Given the description of an element on the screen output the (x, y) to click on. 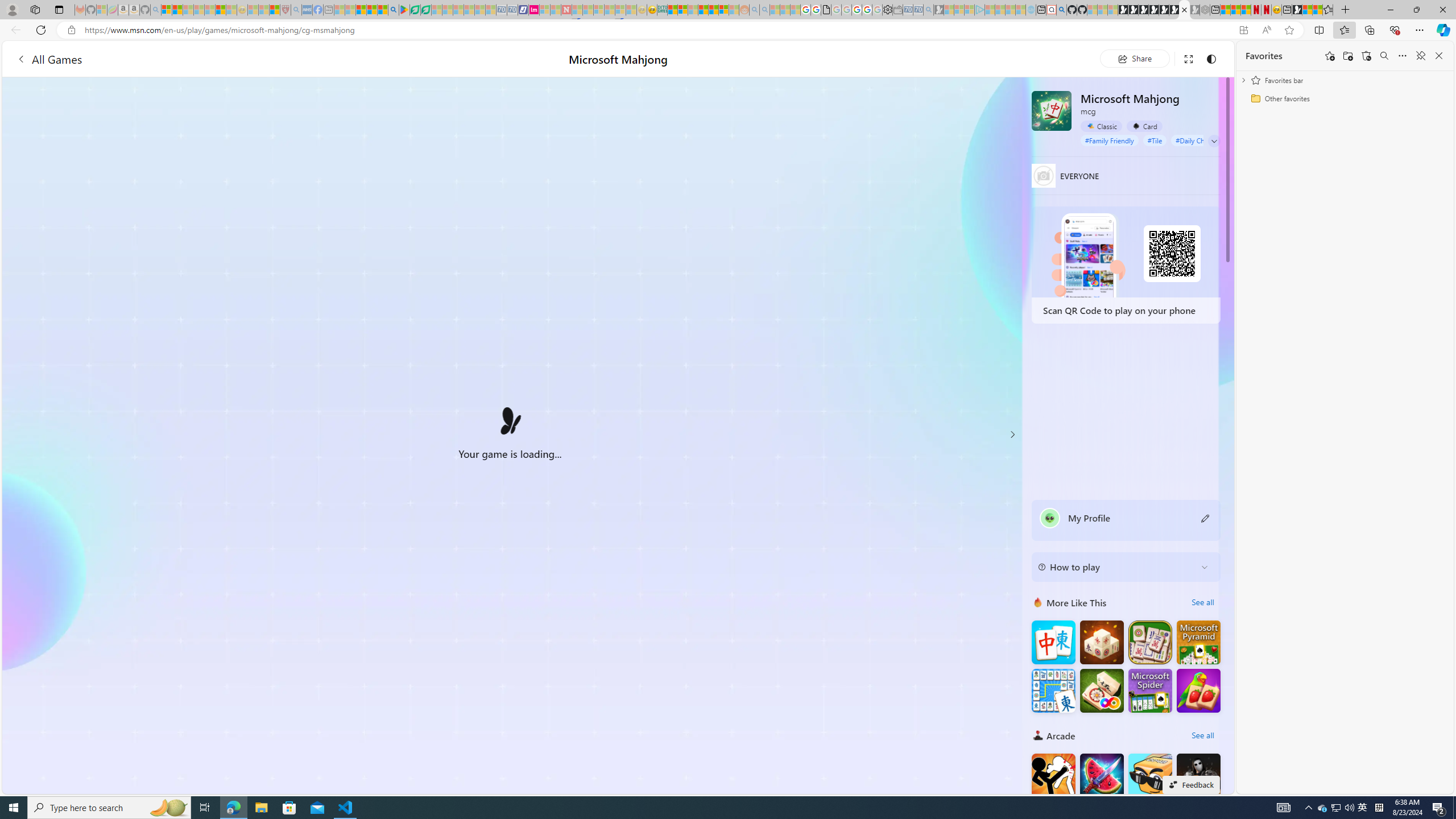
Solitaire Mahjong Juicy (1198, 690)
Add folder (1347, 55)
Arcade (1037, 735)
Change to dark mode (1211, 58)
